Given the description of an element on the screen output the (x, y) to click on. 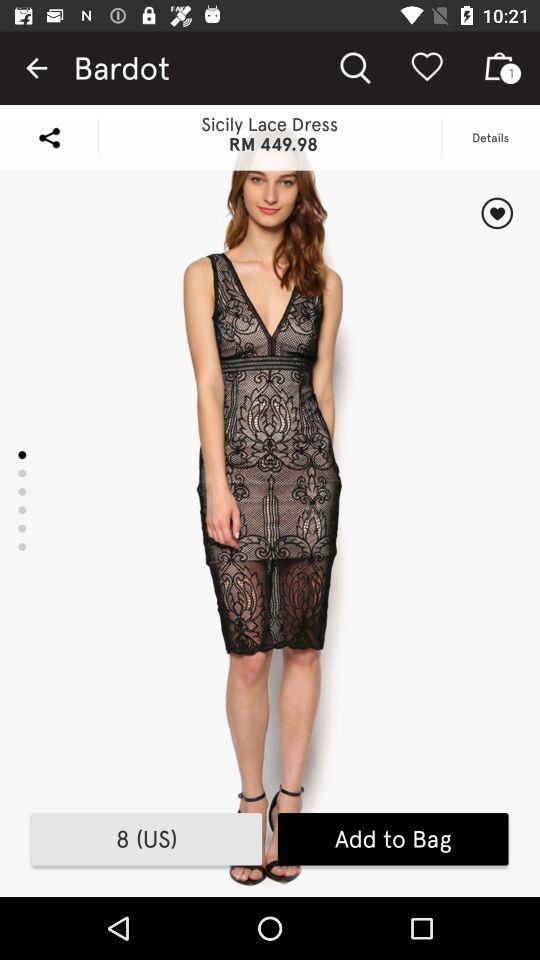
press icon at the bottom right corner (392, 839)
